Given the description of an element on the screen output the (x, y) to click on. 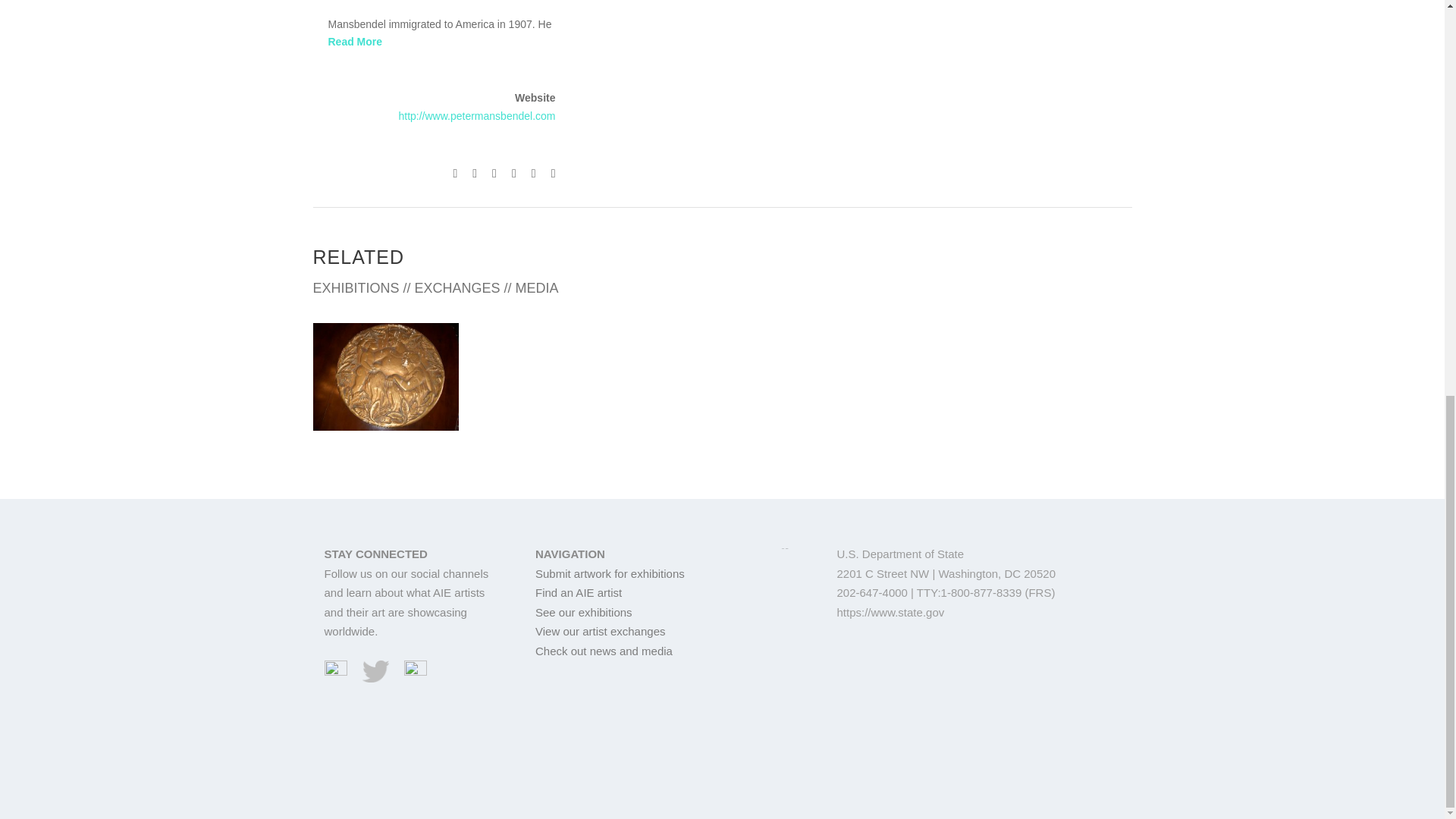
IMGP0318 (385, 376)
Read More (354, 41)
